Given the description of an element on the screen output the (x, y) to click on. 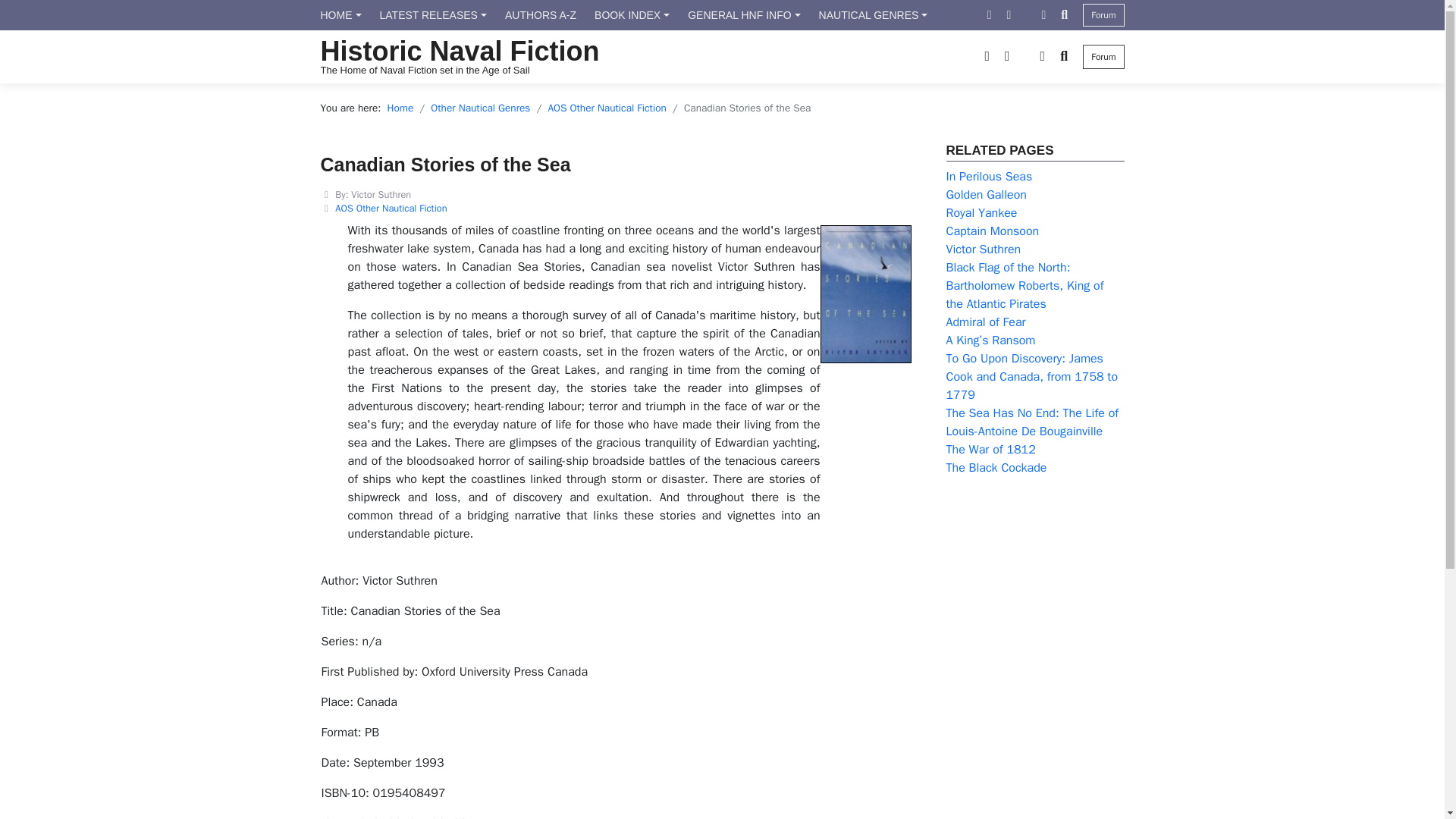
AUTHORS A-Z (540, 15)
Historic Naval Fiction (459, 51)
